Given the description of an element on the screen output the (x, y) to click on. 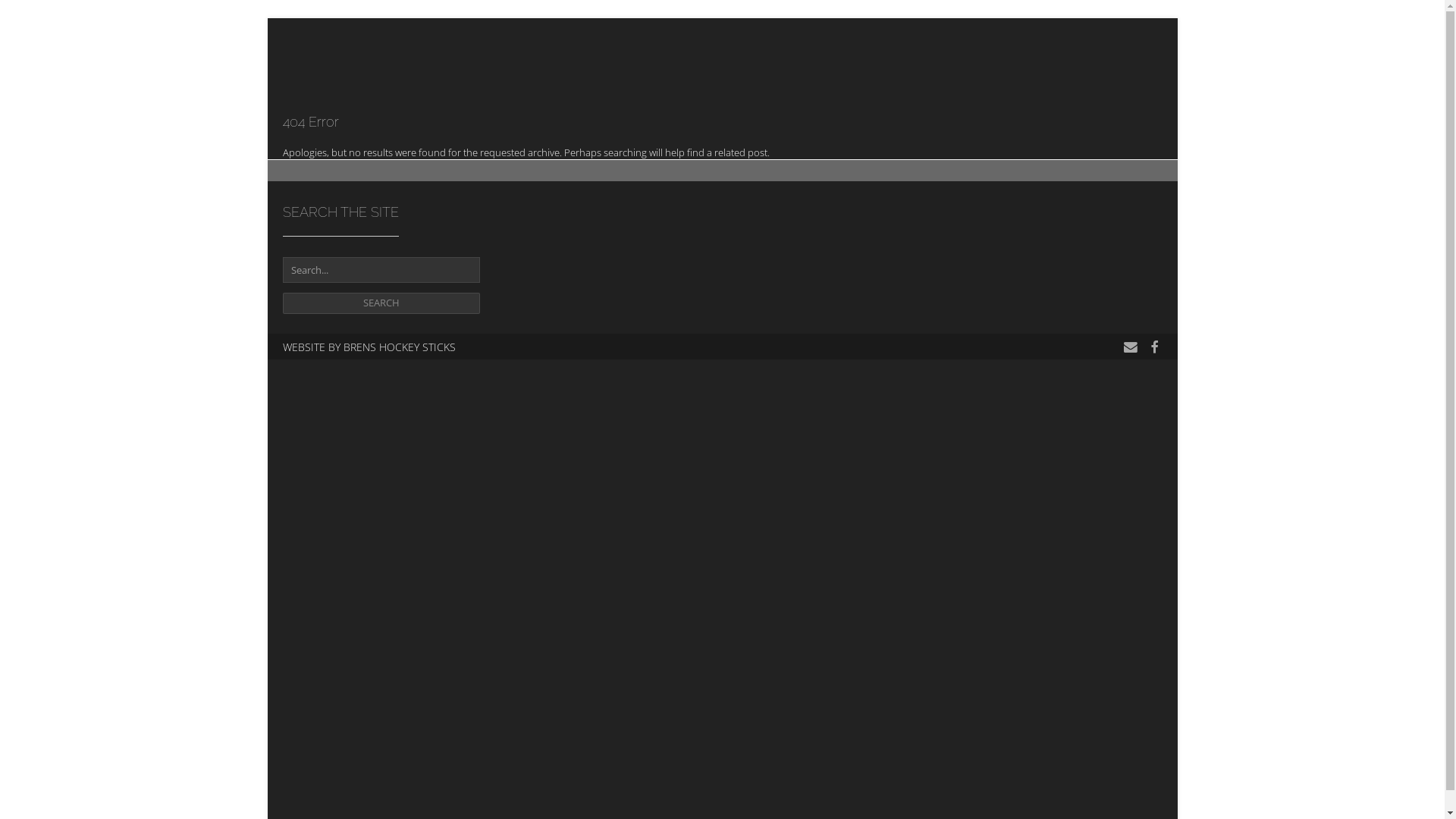
BRENS HOCKEY STICKS Element type: text (398, 346)
Search Element type: text (912, 156)
Search Element type: text (380, 302)
